Given the description of an element on the screen output the (x, y) to click on. 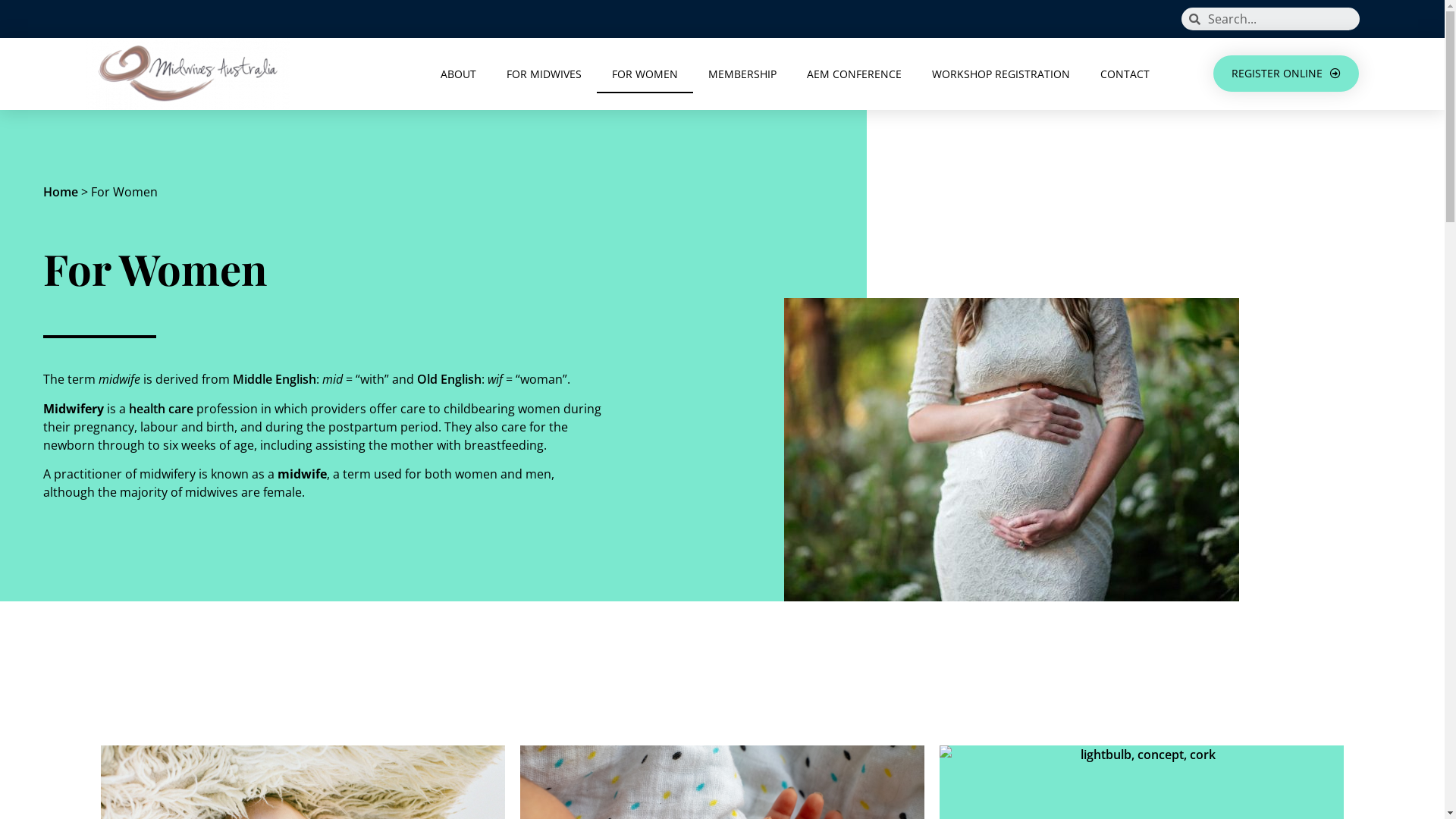
health care Element type: text (160, 408)
Old English Element type: text (449, 378)
AEM CONFERENCE Element type: text (853, 73)
Search Element type: hover (1278, 18)
ABOUT Element type: text (458, 73)
Middle English Element type: text (274, 378)
FOR WOMEN Element type: text (644, 73)
CONTACT Element type: text (1124, 73)
For Women Element type: hover (1011, 448)
Home Element type: text (60, 191)
REGISTER ONLINE Element type: text (1285, 73)
FOR MIDWIVES Element type: text (543, 73)
WORKSHOP REGISTRATION Element type: text (1000, 73)
MEMBERSHIP Element type: text (742, 73)
